Given the description of an element on the screen output the (x, y) to click on. 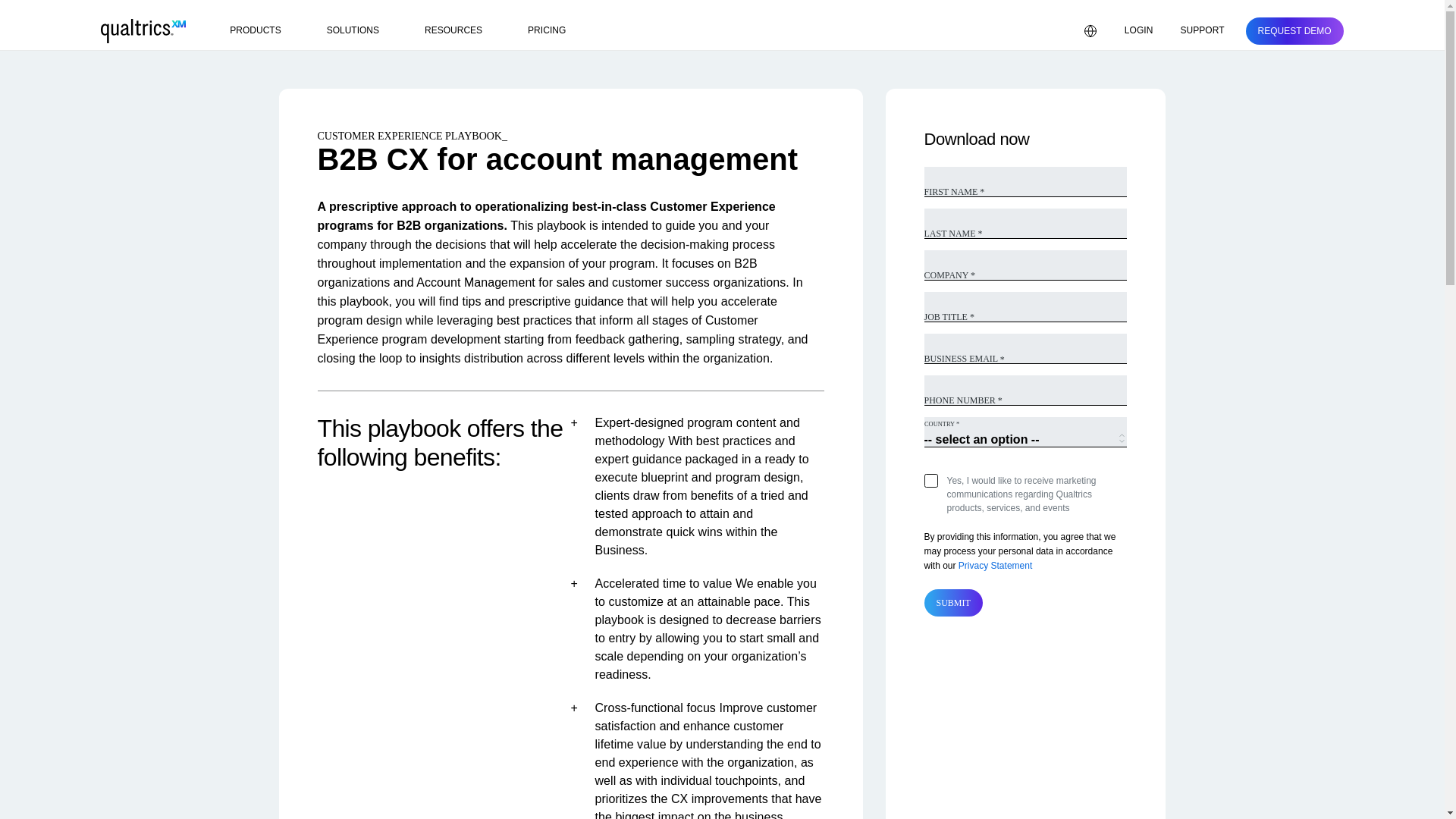
Skip to main content (48, 8)
SOLUTIONS (361, 30)
PRODUCTS (264, 30)
PRICING (546, 30)
RESOURCES (462, 30)
